Given the description of an element on the screen output the (x, y) to click on. 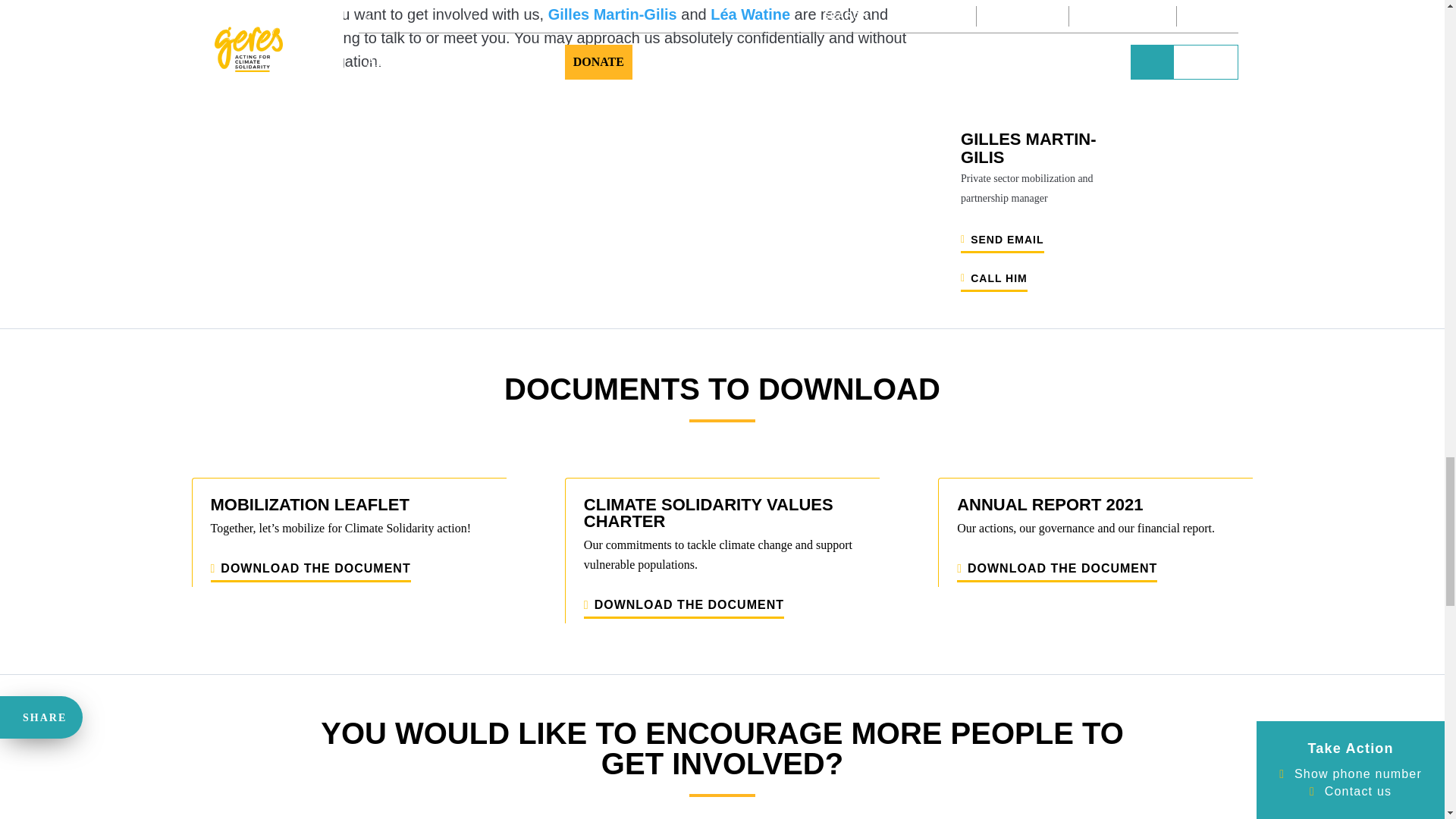
Gilles Martin Gilis (1045, 112)
